Given the description of an element on the screen output the (x, y) to click on. 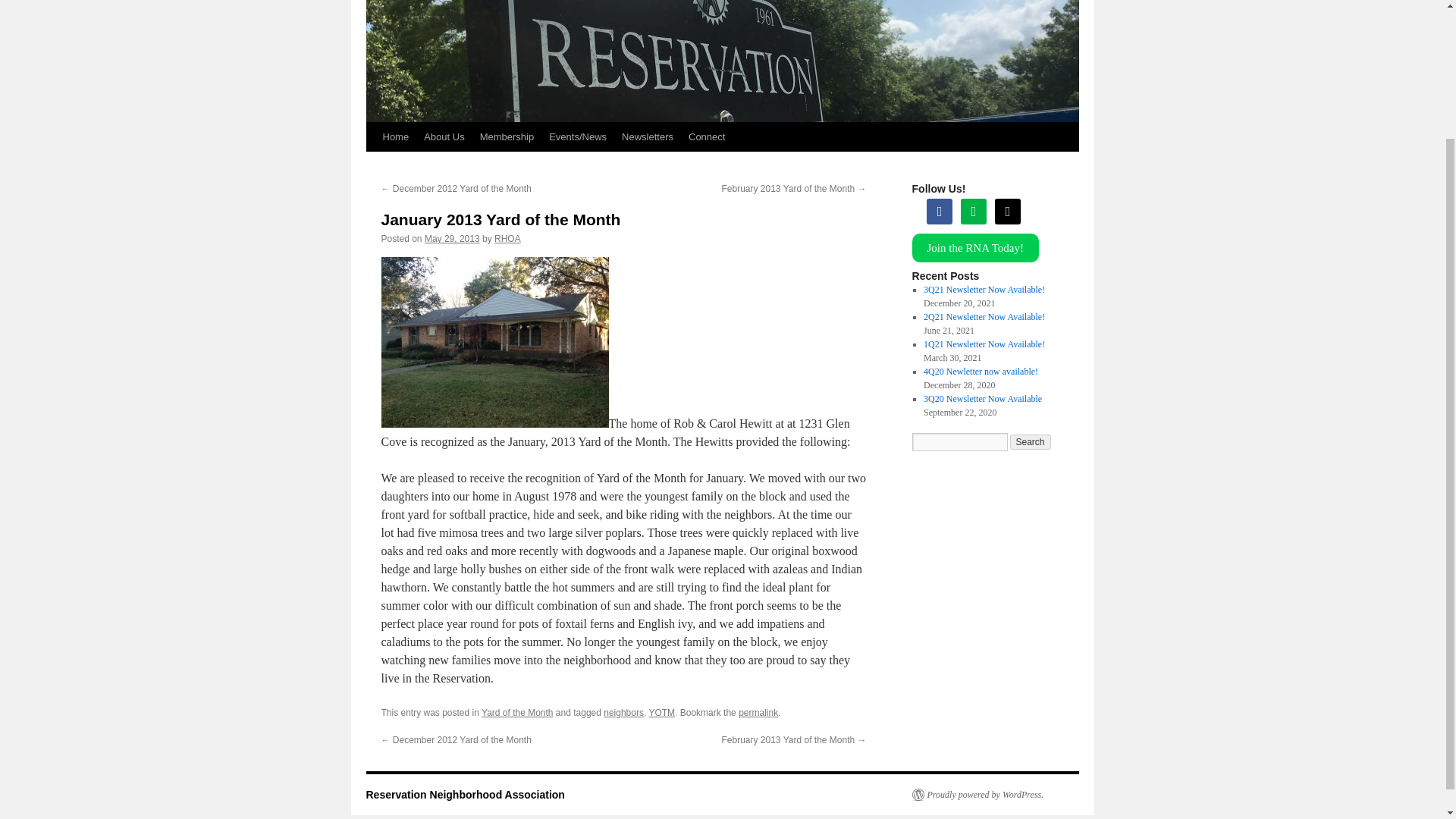
neighbors (623, 712)
Membership (506, 136)
Default Label (1007, 210)
About Us (443, 136)
3Q21 Newsletter Now Available! (984, 289)
Connect (706, 136)
nextdoor (973, 210)
Facebook (939, 210)
Semantic Personal Publishing Platform (977, 794)
Search (1030, 441)
Proudly powered by WordPress. (977, 794)
2Q21 Newsletter Now Available! (984, 317)
facebook (939, 210)
RHOA (508, 238)
4Q20 Newletter now available! (980, 371)
